Given the description of an element on the screen output the (x, y) to click on. 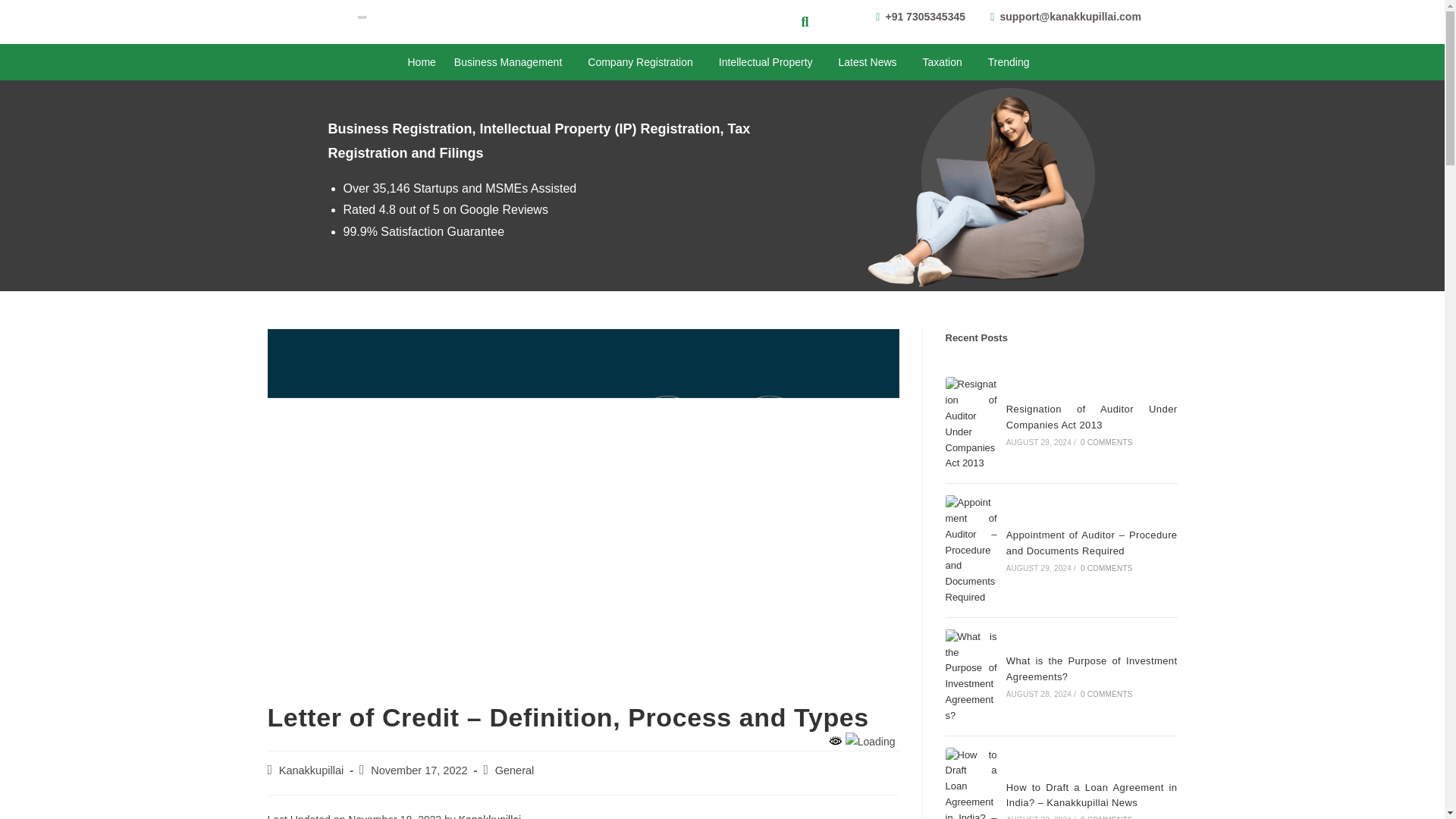
Intellectual Property (769, 61)
Business Management (511, 61)
Taxation (946, 61)
Latest News (871, 61)
Posts by Kanakkupillai (311, 770)
Home (421, 61)
Company Registration (644, 61)
